Given the description of an element on the screen output the (x, y) to click on. 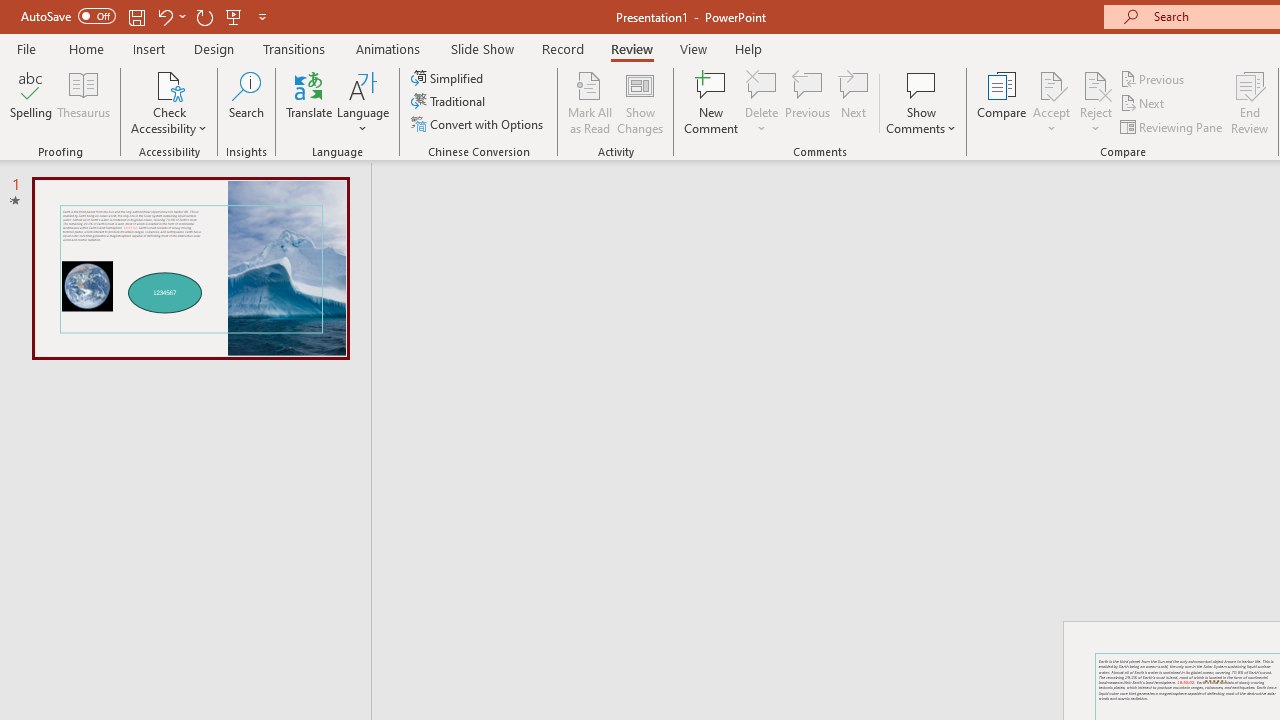
Accept (1051, 102)
Thesaurus... (83, 102)
